Given the description of an element on the screen output the (x, y) to click on. 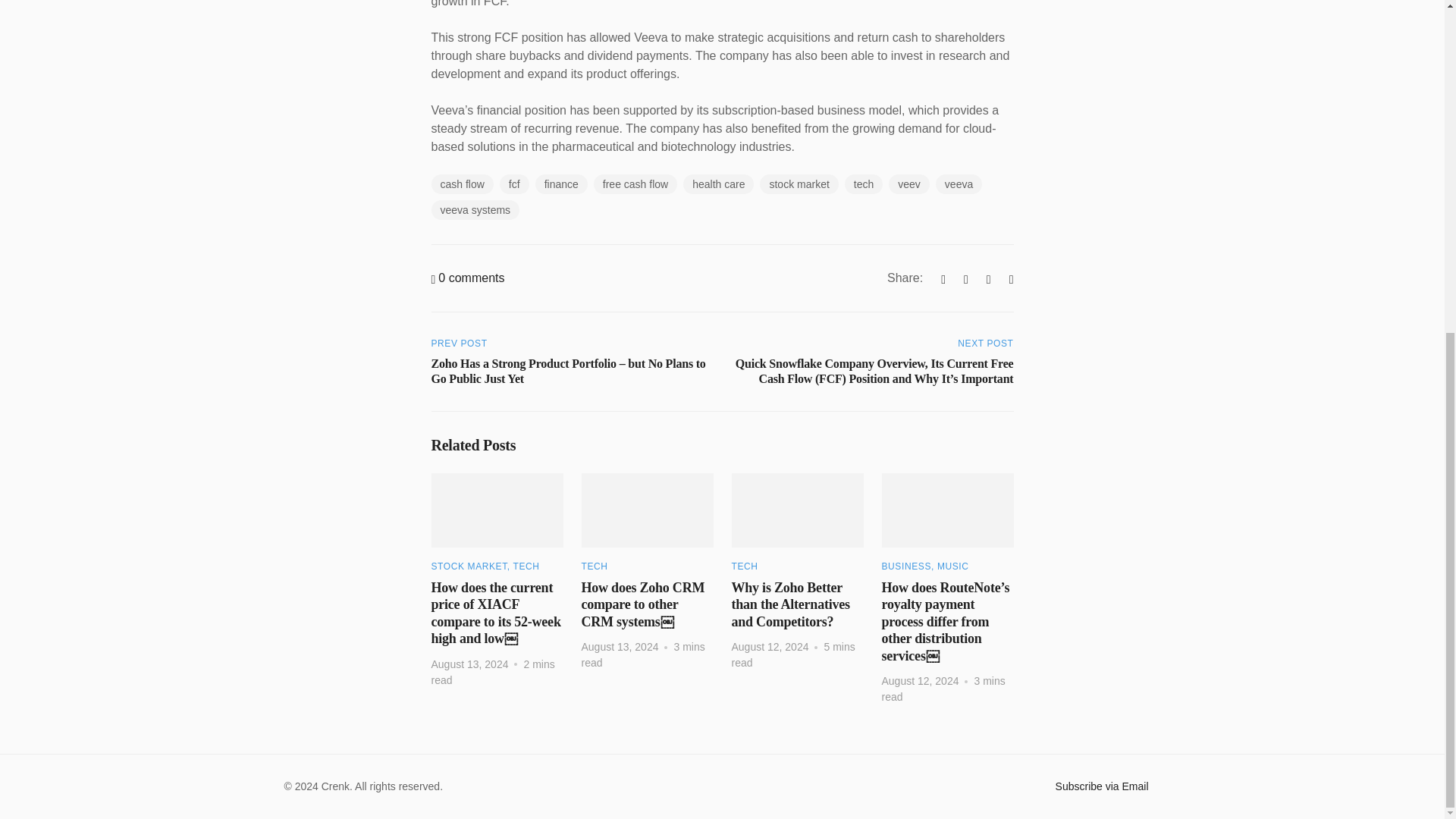
fcf (514, 184)
veeva (958, 184)
finance (561, 184)
cash flow (461, 184)
tech (863, 184)
health care (718, 184)
stock market (799, 184)
free cash flow (635, 184)
0 comments (466, 277)
veeva systems (474, 209)
